Given the description of an element on the screen output the (x, y) to click on. 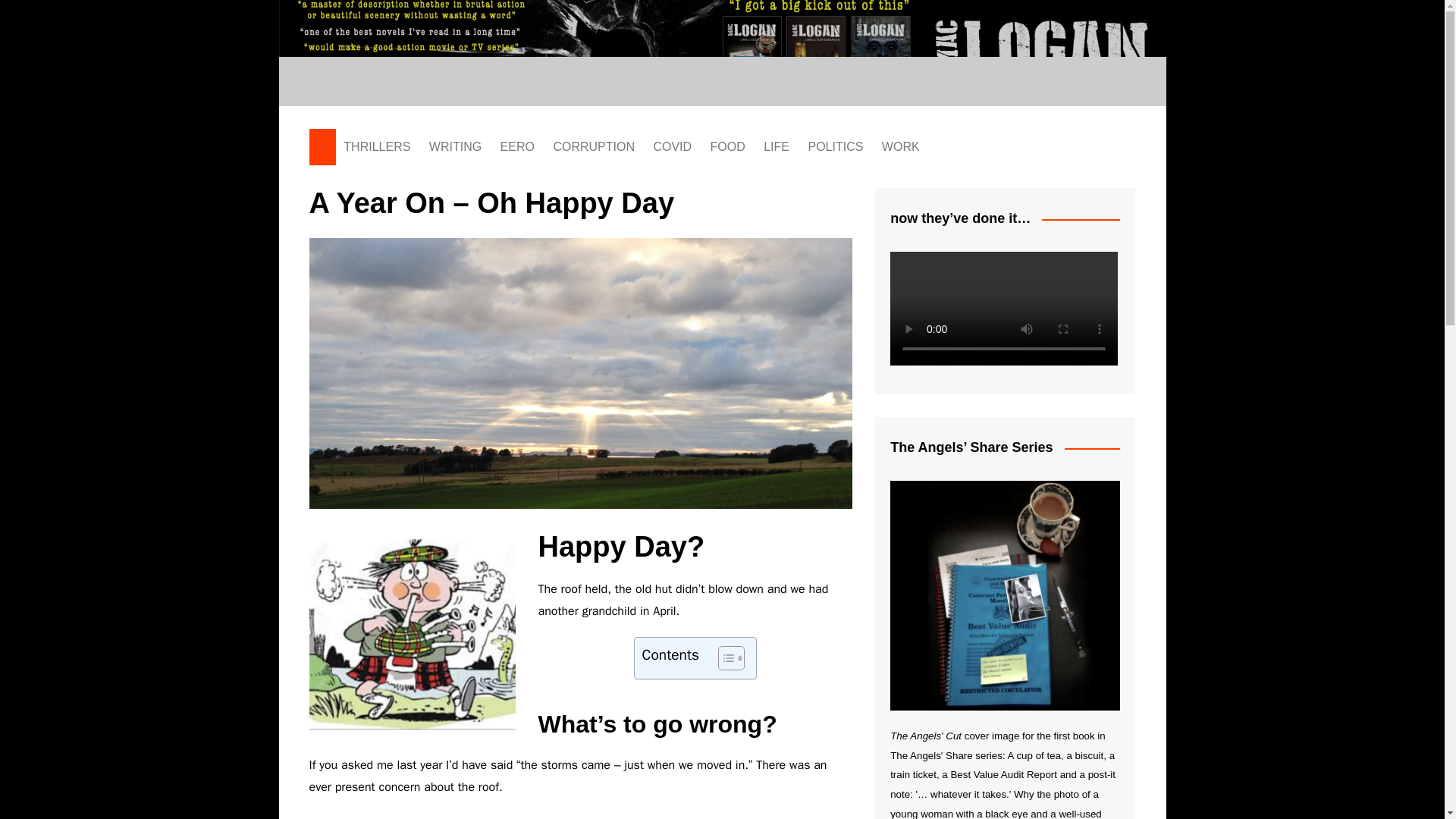
POLITICS (834, 146)
CORRUPTION (593, 146)
WRITING (455, 146)
COVID (671, 146)
Mac Logan (777, 65)
LIFE (775, 146)
FOOD (727, 146)
EERO (517, 146)
THRILLERS (376, 146)
WORK (901, 146)
